Given the description of an element on the screen output the (x, y) to click on. 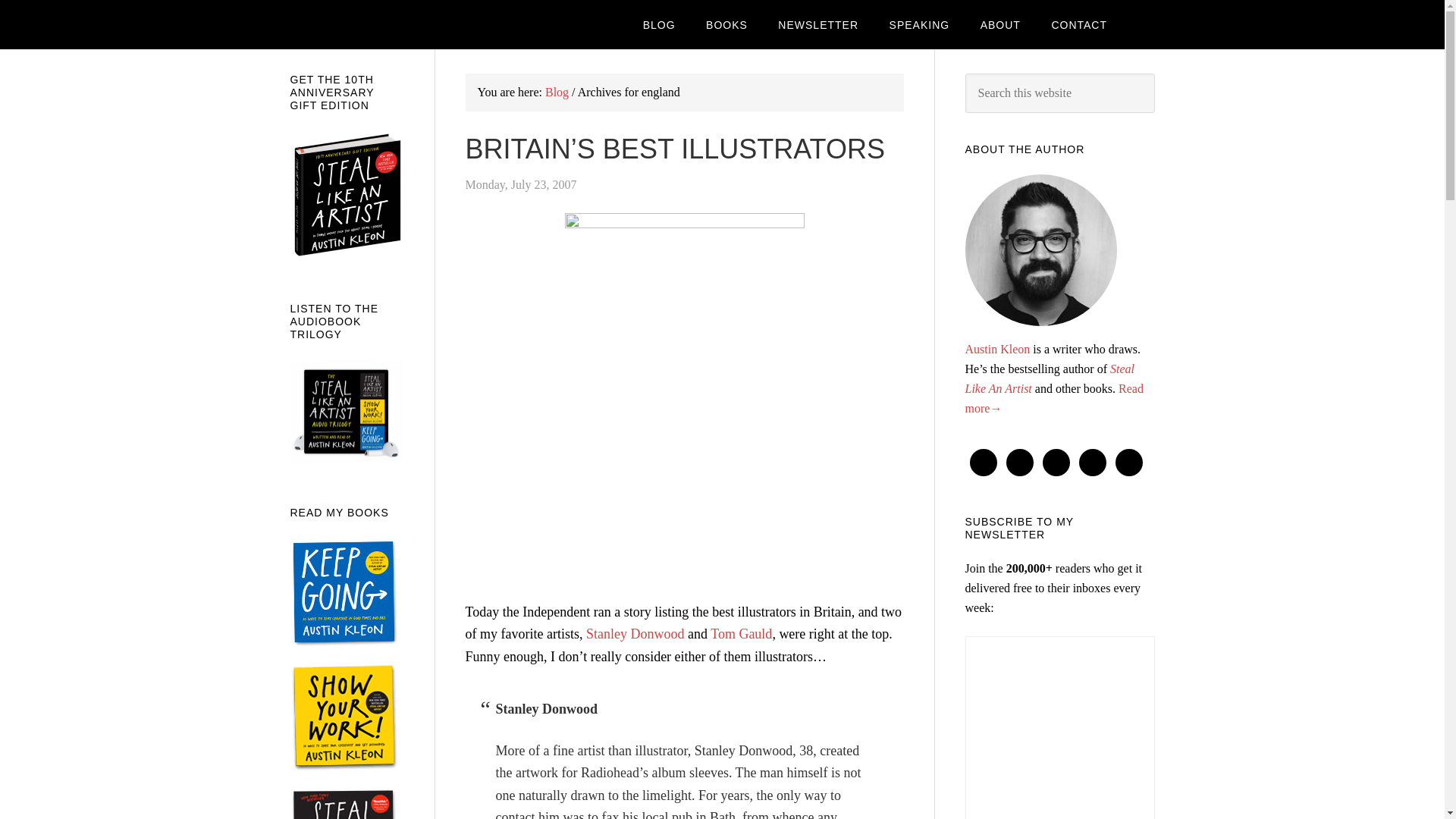
CONTACT (1078, 24)
AUSTIN KLEON (410, 24)
Read my books (727, 24)
Photo Sharing (683, 223)
Austin Kleon (996, 349)
BLOG (658, 24)
Tom Gauld (740, 633)
